Given the description of an element on the screen output the (x, y) to click on. 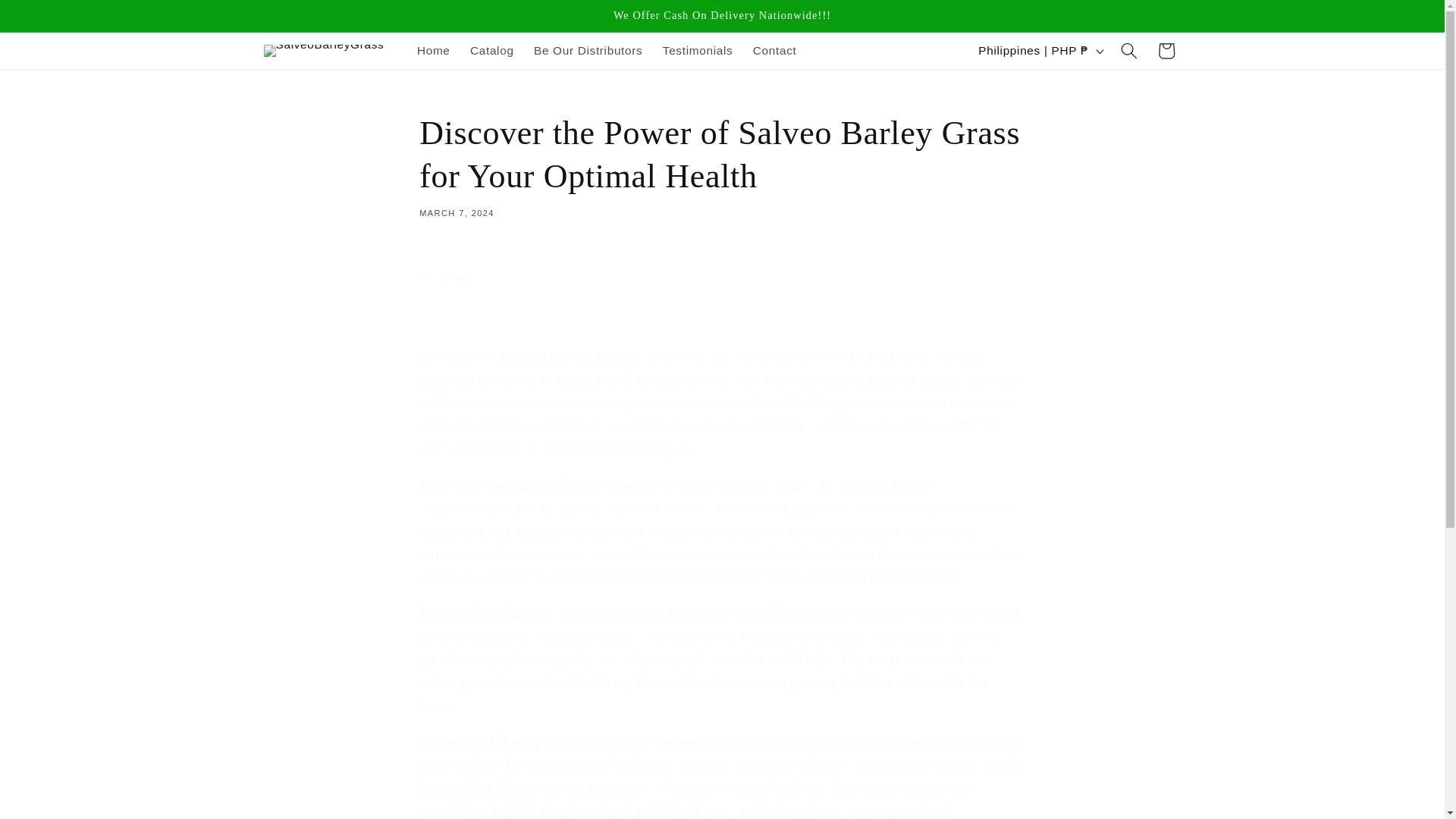
Home (433, 50)
Cart (1166, 50)
Share (722, 278)
Benefits of Barley Grass (502, 742)
Testimonials (697, 50)
Catalog (492, 50)
Contact (774, 50)
Be Our Distributors (588, 50)
Skip to content (50, 19)
